Given the description of an element on the screen output the (x, y) to click on. 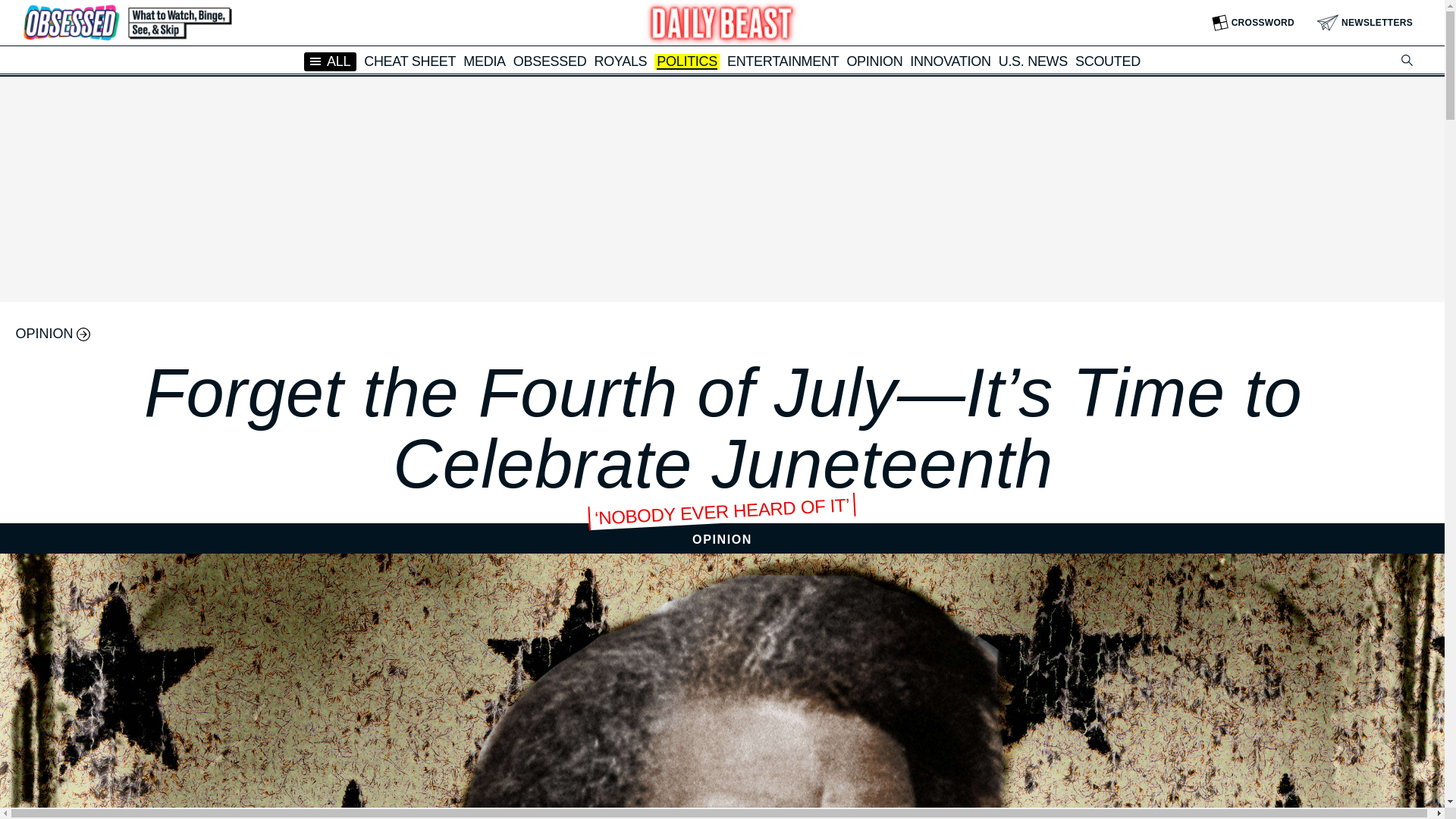
POLITICS (686, 61)
ROYALS (620, 60)
ENTERTAINMENT (782, 60)
ALL (330, 60)
NEWSLETTERS (1364, 22)
MEDIA (484, 60)
SCOUTED (1107, 60)
OBSESSED (549, 60)
INNOVATION (950, 60)
CROSSWORD (1252, 22)
OPINION (873, 60)
CHEAT SHEET (409, 60)
U.S. NEWS (1032, 60)
